Given the description of an element on the screen output the (x, y) to click on. 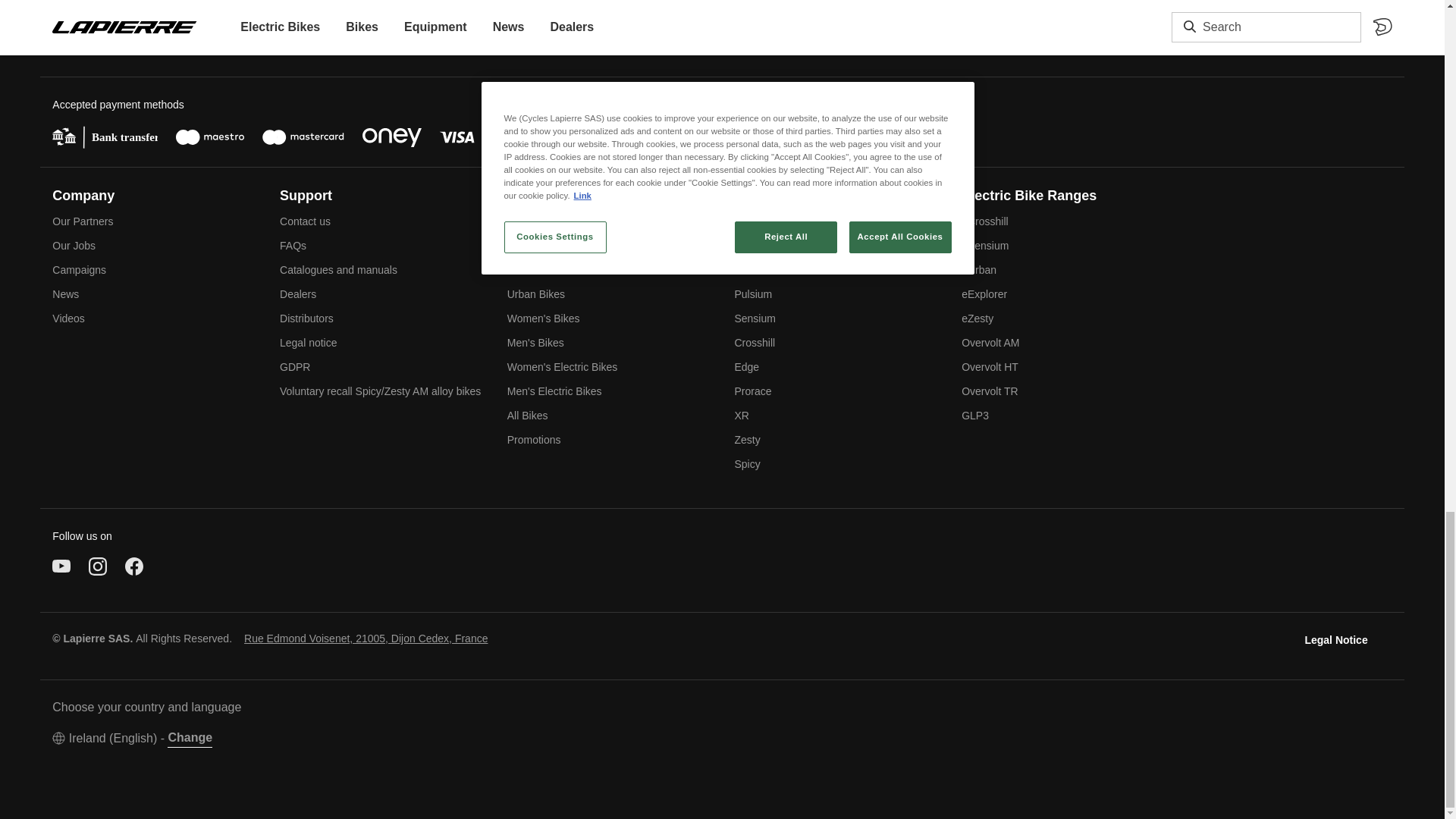
Bank transfer (104, 137)
